Given the description of an element on the screen output the (x, y) to click on. 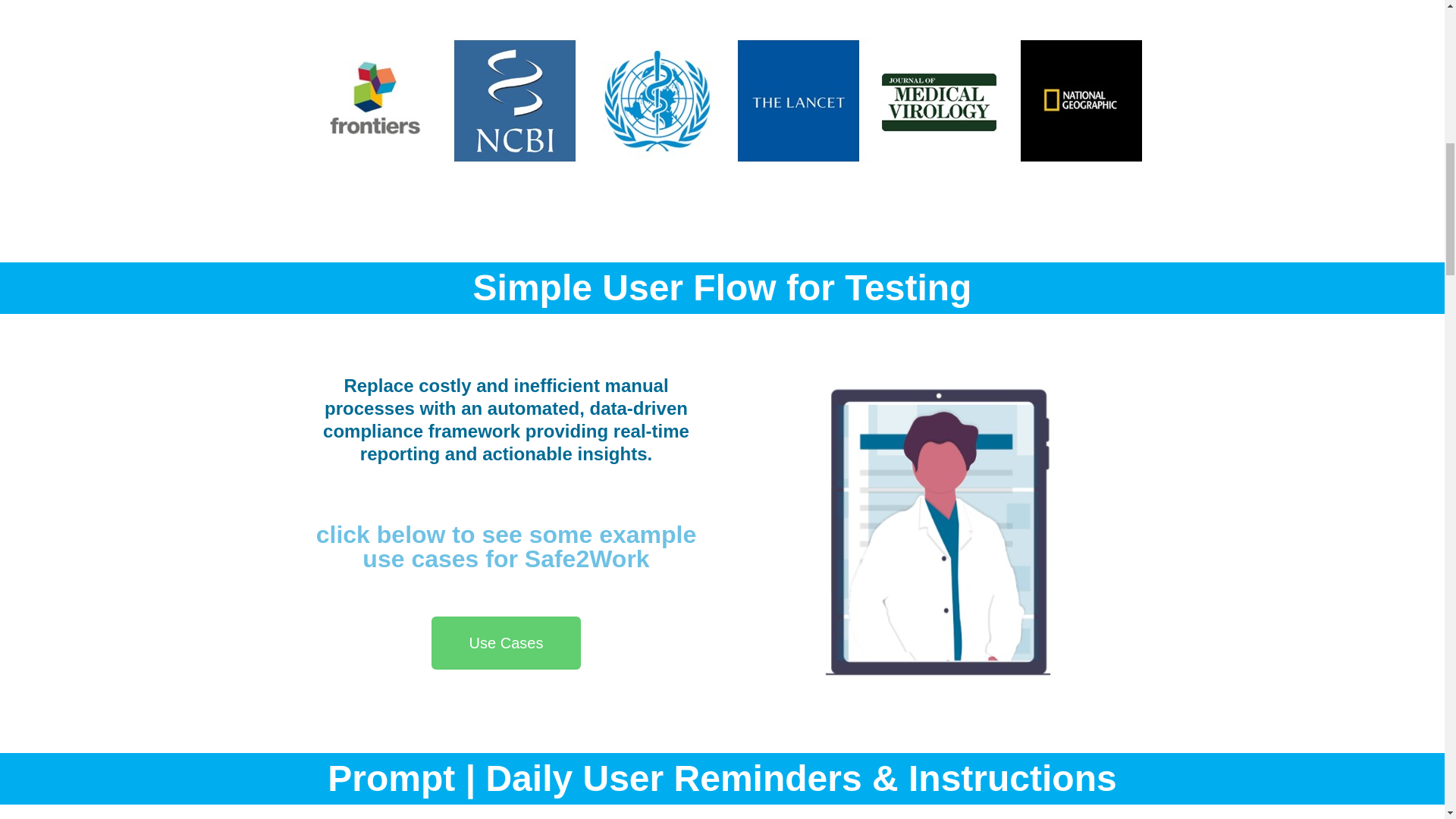
1 (900, 815)
Use Cases (505, 642)
3 (544, 815)
